Given the description of an element on the screen output the (x, y) to click on. 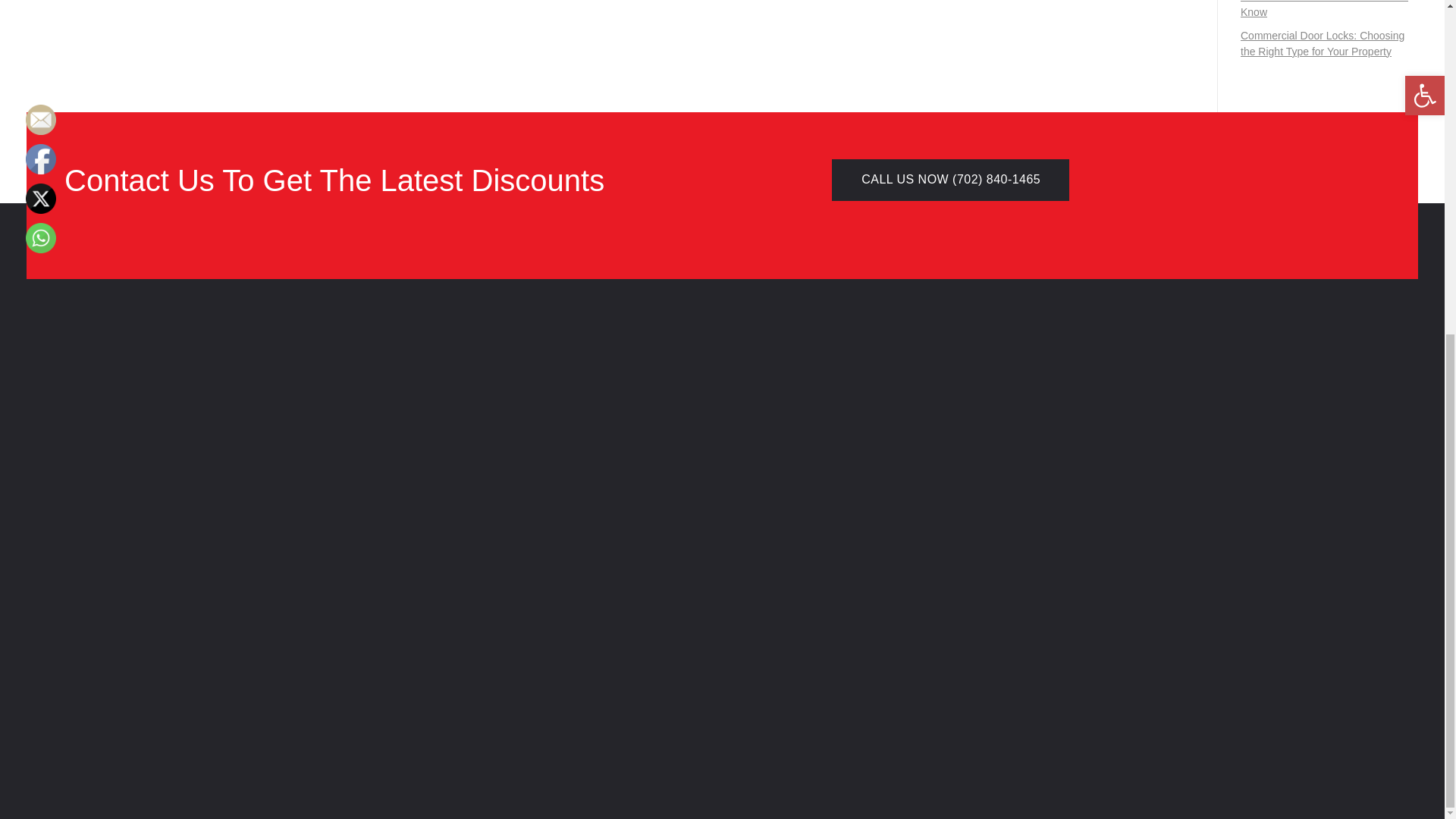
Twitter (41, 198)
Follow by Email (41, 119)
WhatsApp (41, 237)
Facebook (41, 159)
